Given the description of an element on the screen output the (x, y) to click on. 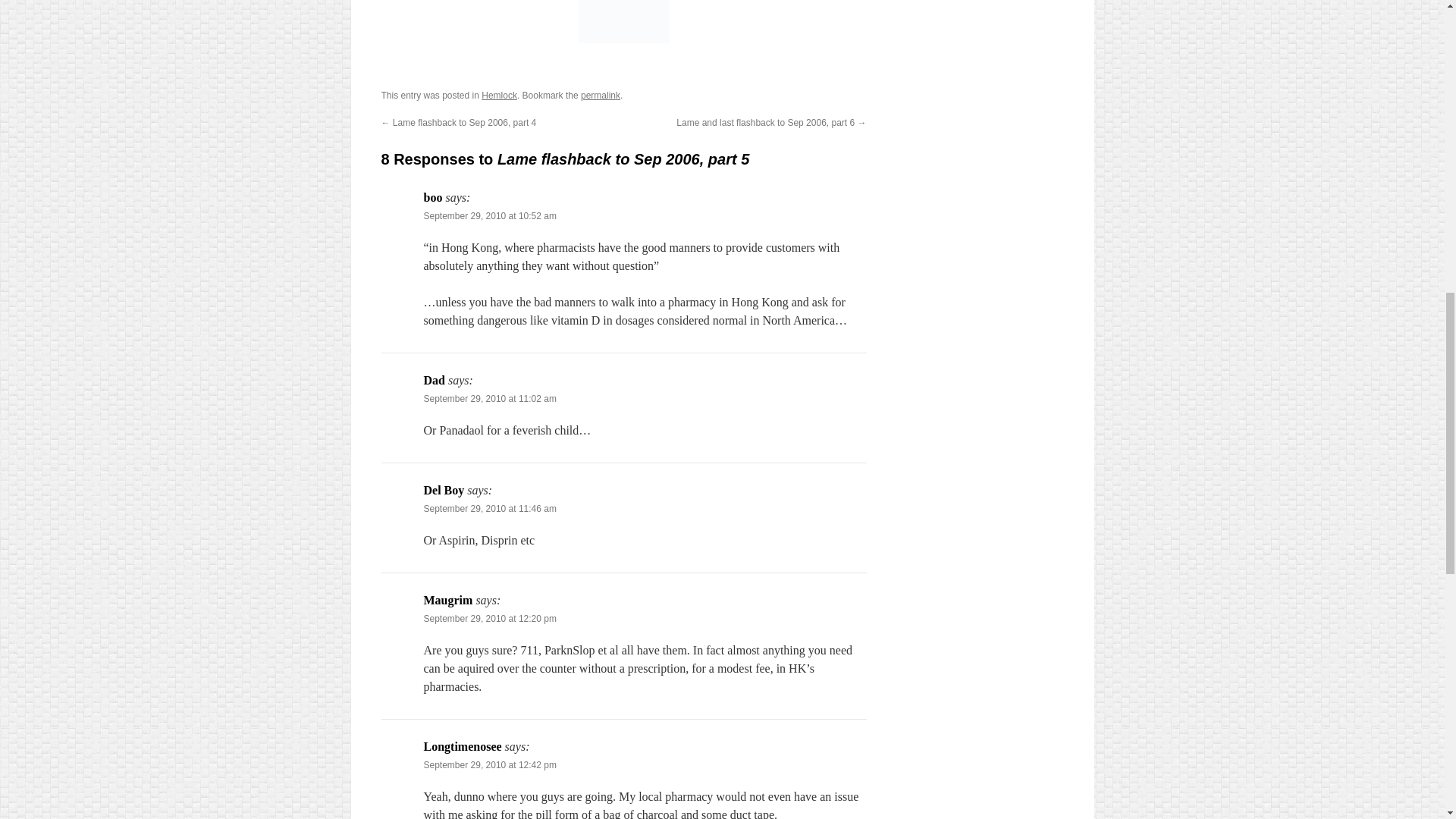
September 29, 2010 at 11:02 am (489, 398)
September 29, 2010 at 11:46 am (489, 508)
Hemlock (498, 95)
September 29, 2010 at 12:20 pm (489, 618)
Permalink to Lame flashback to Sep 2006, part 5 (600, 95)
September 29, 2010 at 12:42 pm (489, 765)
September 29, 2010 at 10:52 am (489, 215)
permalink (600, 95)
